Given the description of an element on the screen output the (x, y) to click on. 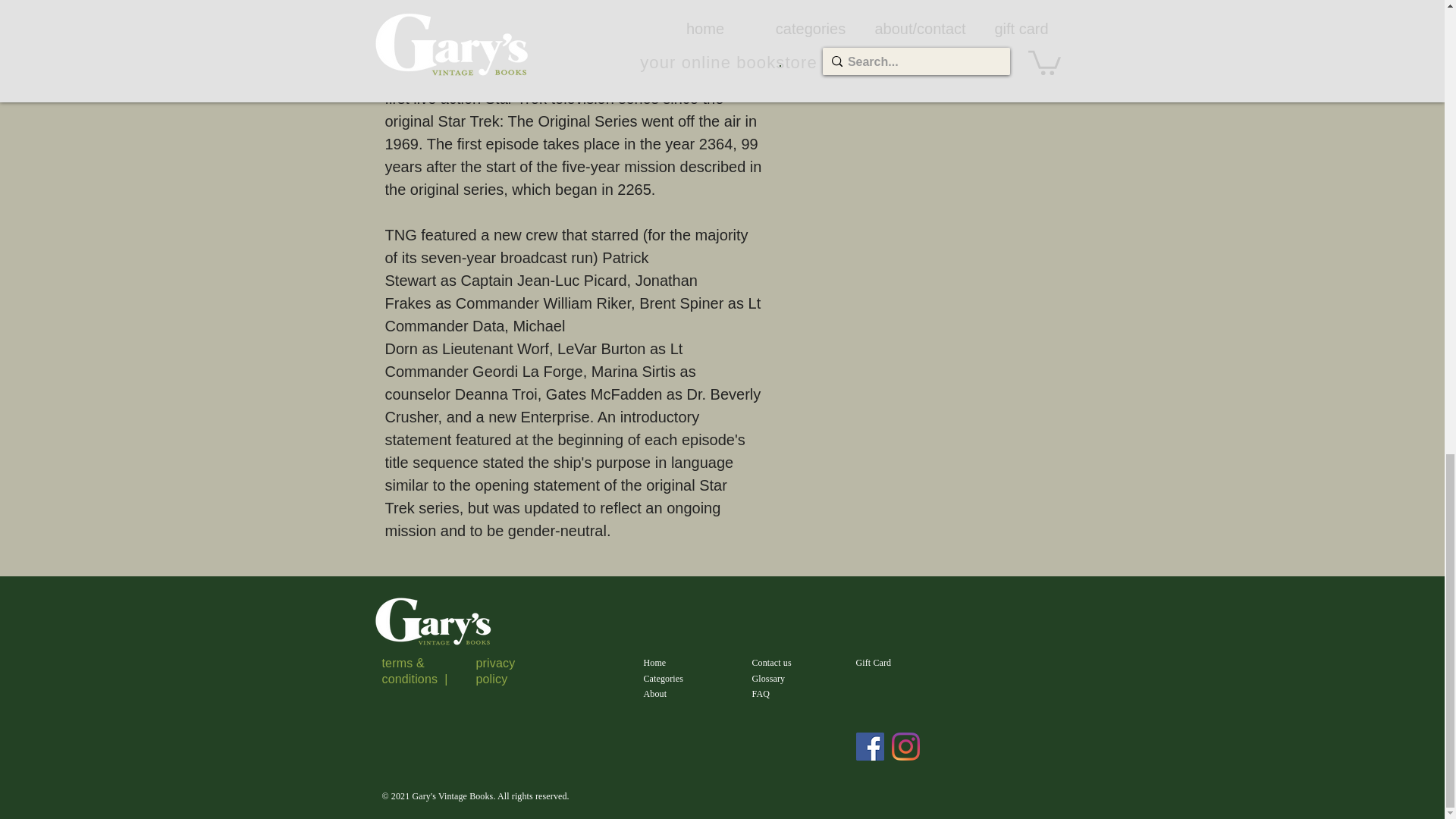
Home (654, 662)
About (654, 693)
privacy policy (495, 670)
Glossary (769, 678)
Categories (662, 678)
Gift Card (873, 662)
FAQ (761, 693)
Contact us (772, 662)
